Given the description of an element on the screen output the (x, y) to click on. 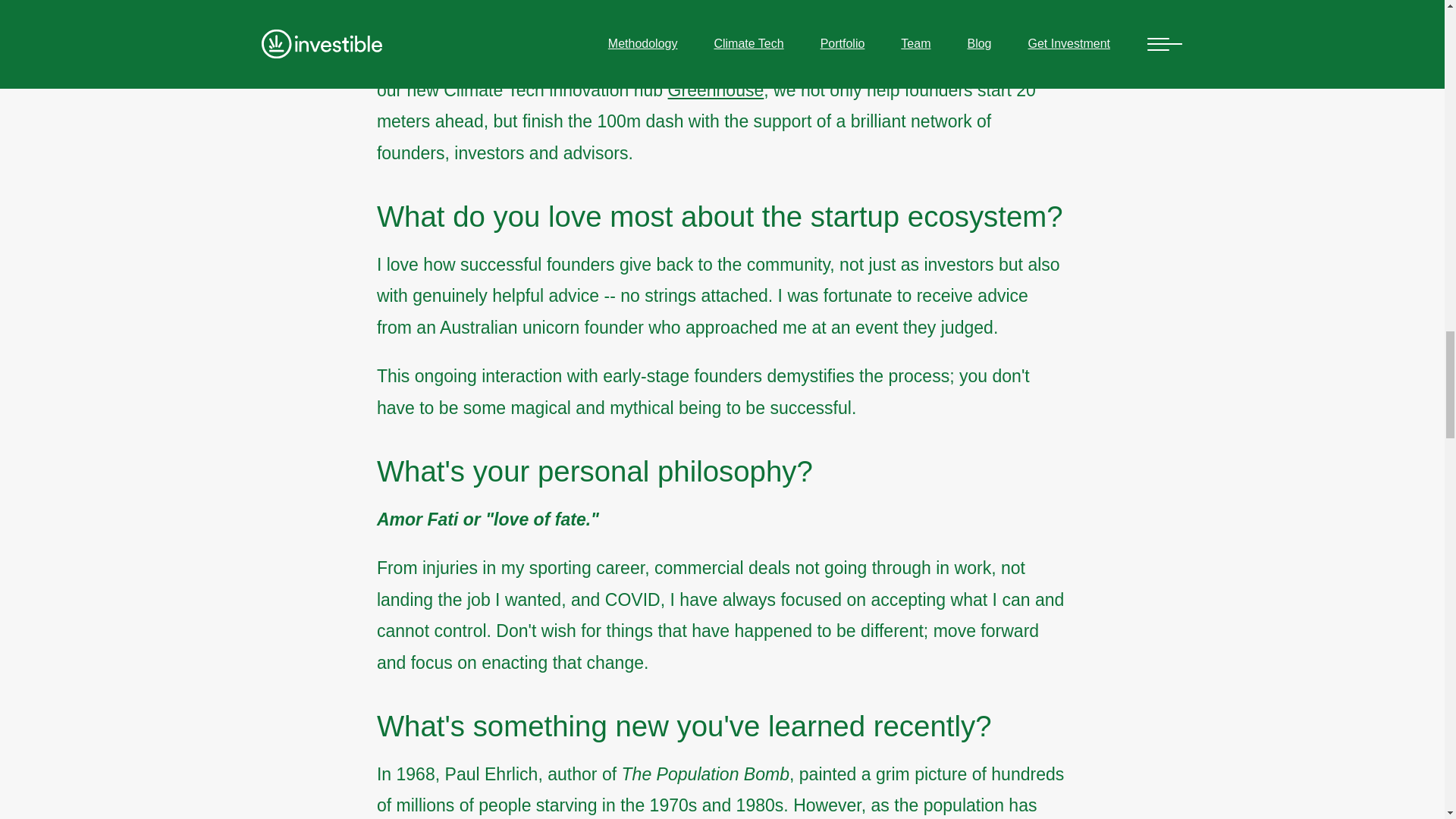
the headstart (701, 2)
Greenhouse (716, 89)
